Given the description of an element on the screen output the (x, y) to click on. 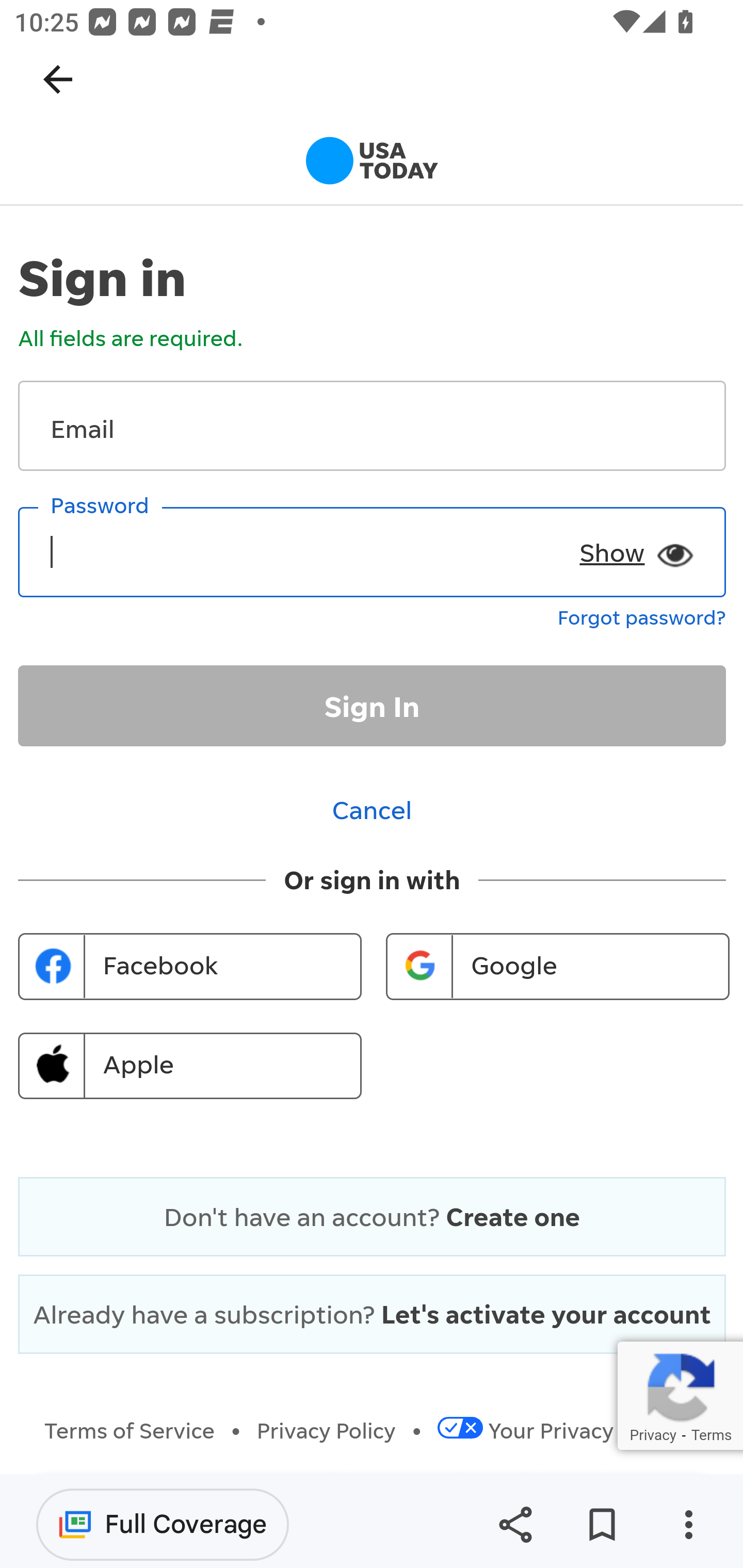
Navigate up (57, 79)
USA TODAY (371, 163)
Show (630, 544)
Forgot password? (641, 614)
Sign In (372, 705)
Cancel (372, 808)
Facebook (189, 966)
Google (557, 966)
Apple (189, 1065)
Don't have an account? Create one (371, 1216)
Terms of Service (129, 1430)
Privacy Policy (326, 1430)
Privacy (652, 1434)
Terms (711, 1434)
Share (514, 1524)
Save for later (601, 1524)
More options (688, 1524)
Full Coverage (162, 1524)
